Given the description of an element on the screen output the (x, y) to click on. 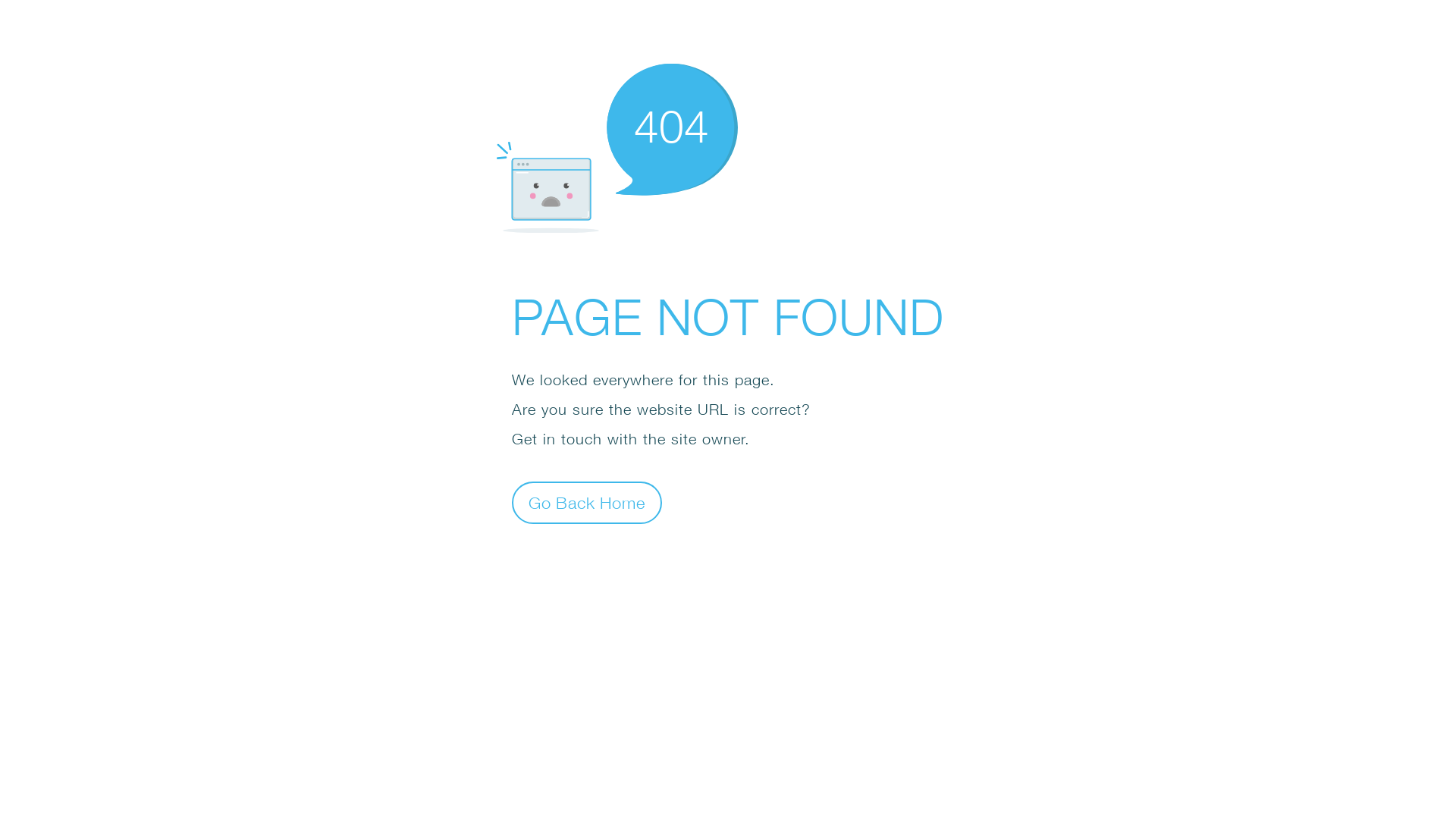
Go Back Home Element type: text (586, 502)
